Given the description of an element on the screen output the (x, y) to click on. 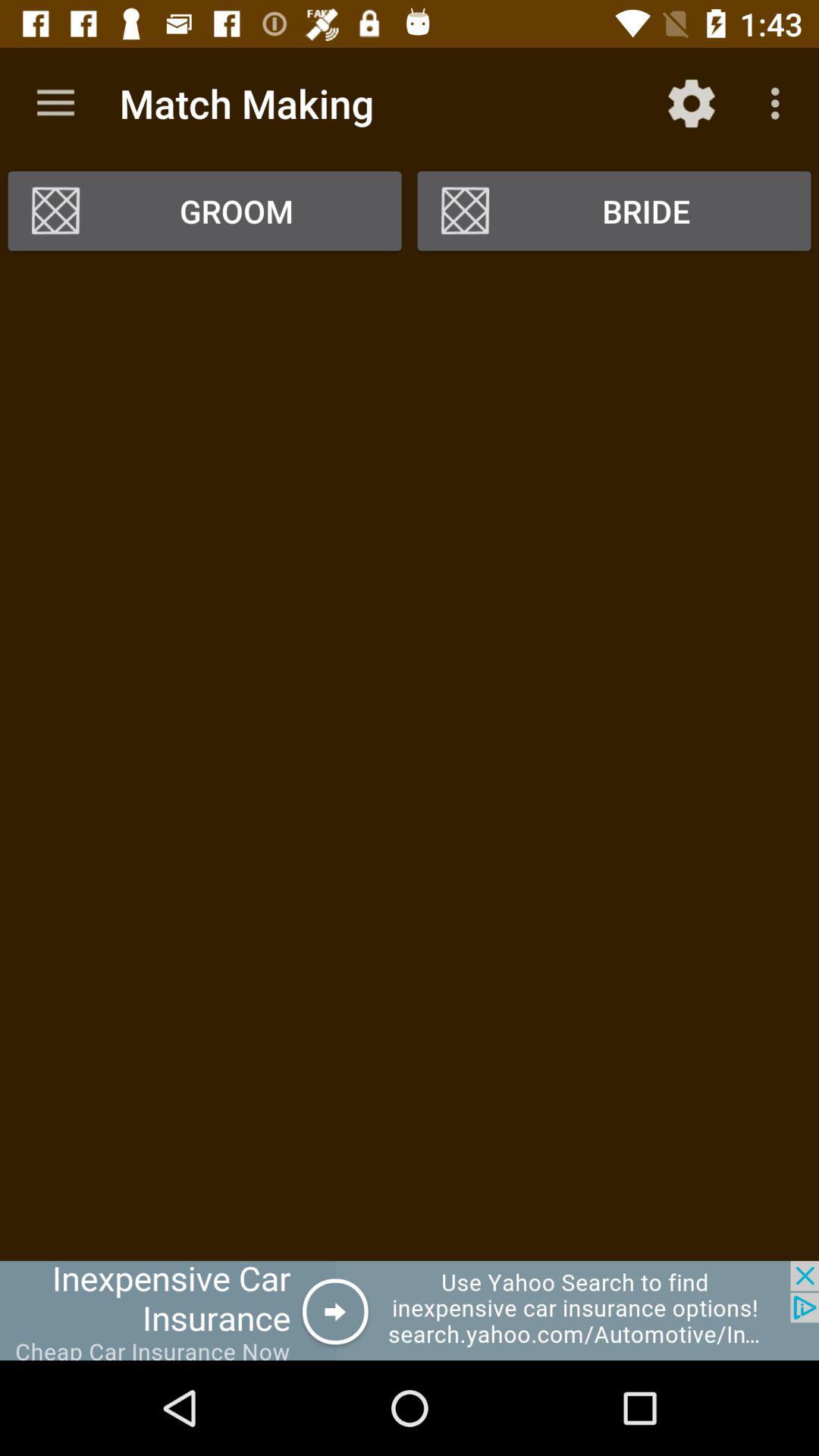
matching screen space for groom and bride (409, 761)
